Given the description of an element on the screen output the (x, y) to click on. 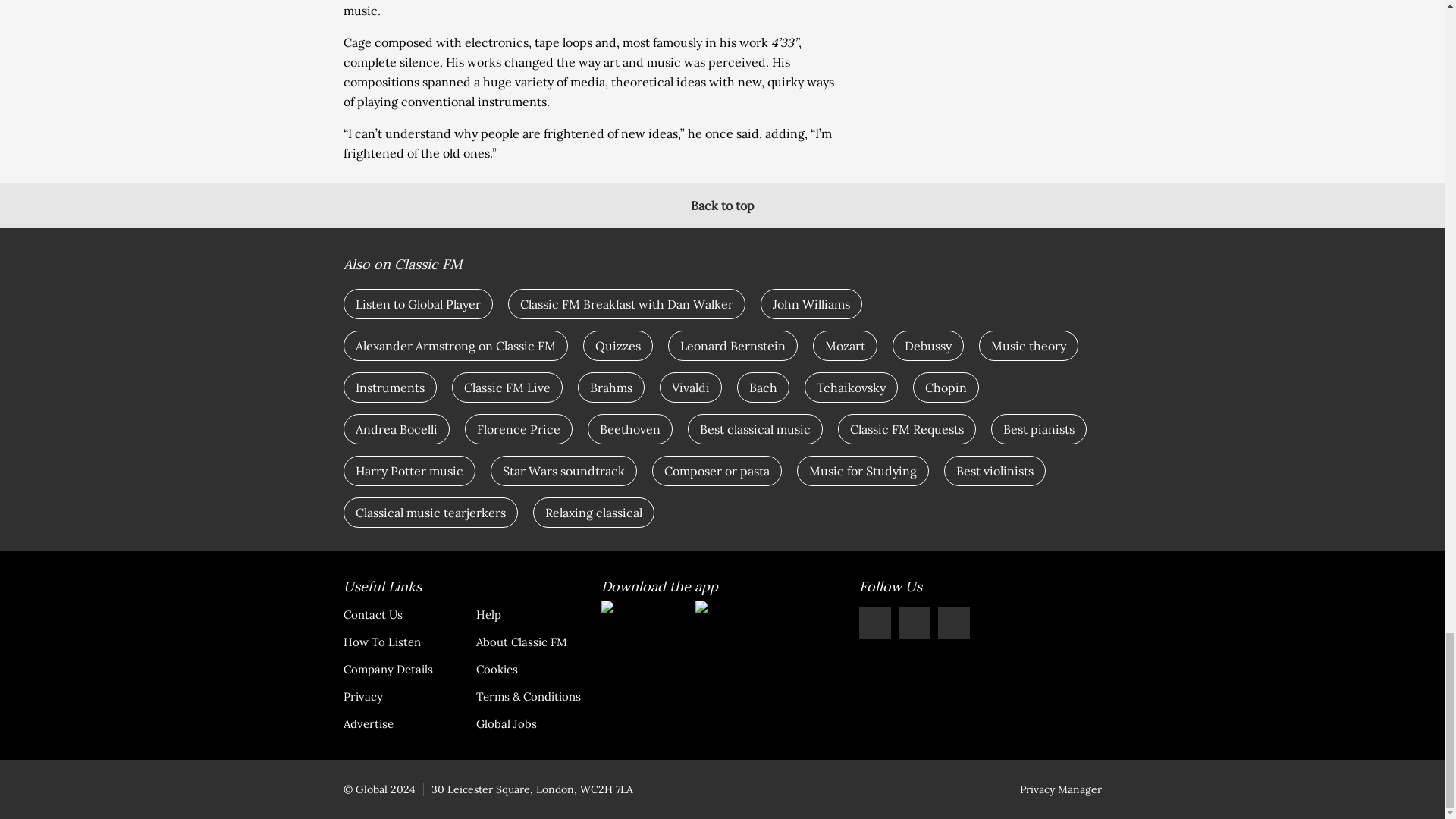
Follow Classic FM on Instagram (914, 622)
Follow Classic FM on Youtube (953, 622)
Follow Classic FM on Facebook (874, 622)
Back to top (722, 205)
